Given the description of an element on the screen output the (x, y) to click on. 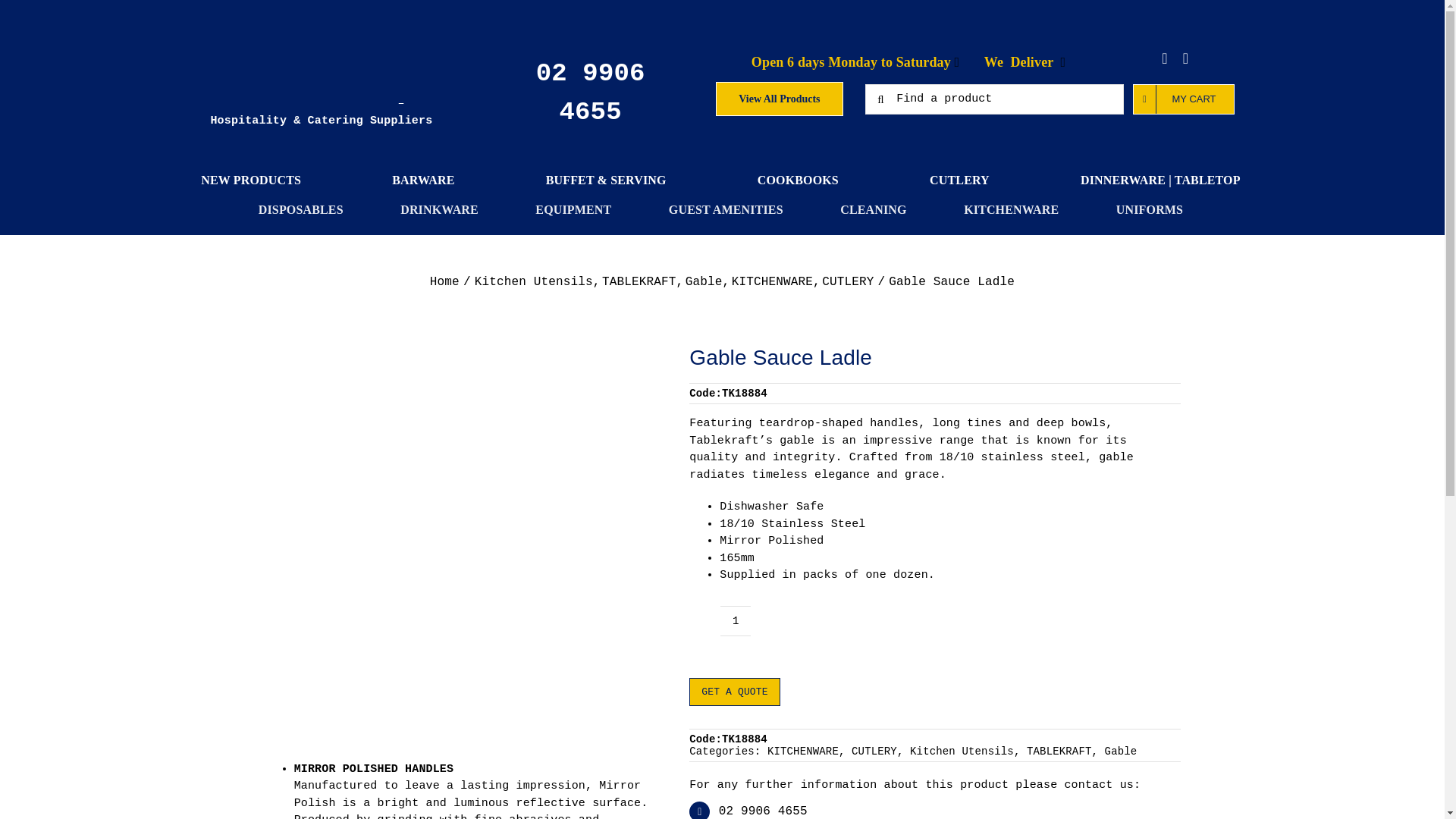
COOKBOOKS (797, 180)
02 9906 4655 (590, 92)
CUTLERY (960, 180)
MY CART (1183, 98)
NEW PRODUCTS (250, 180)
View All Products (779, 98)
BARWARE (422, 180)
1 (735, 621)
